Given the description of an element on the screen output the (x, y) to click on. 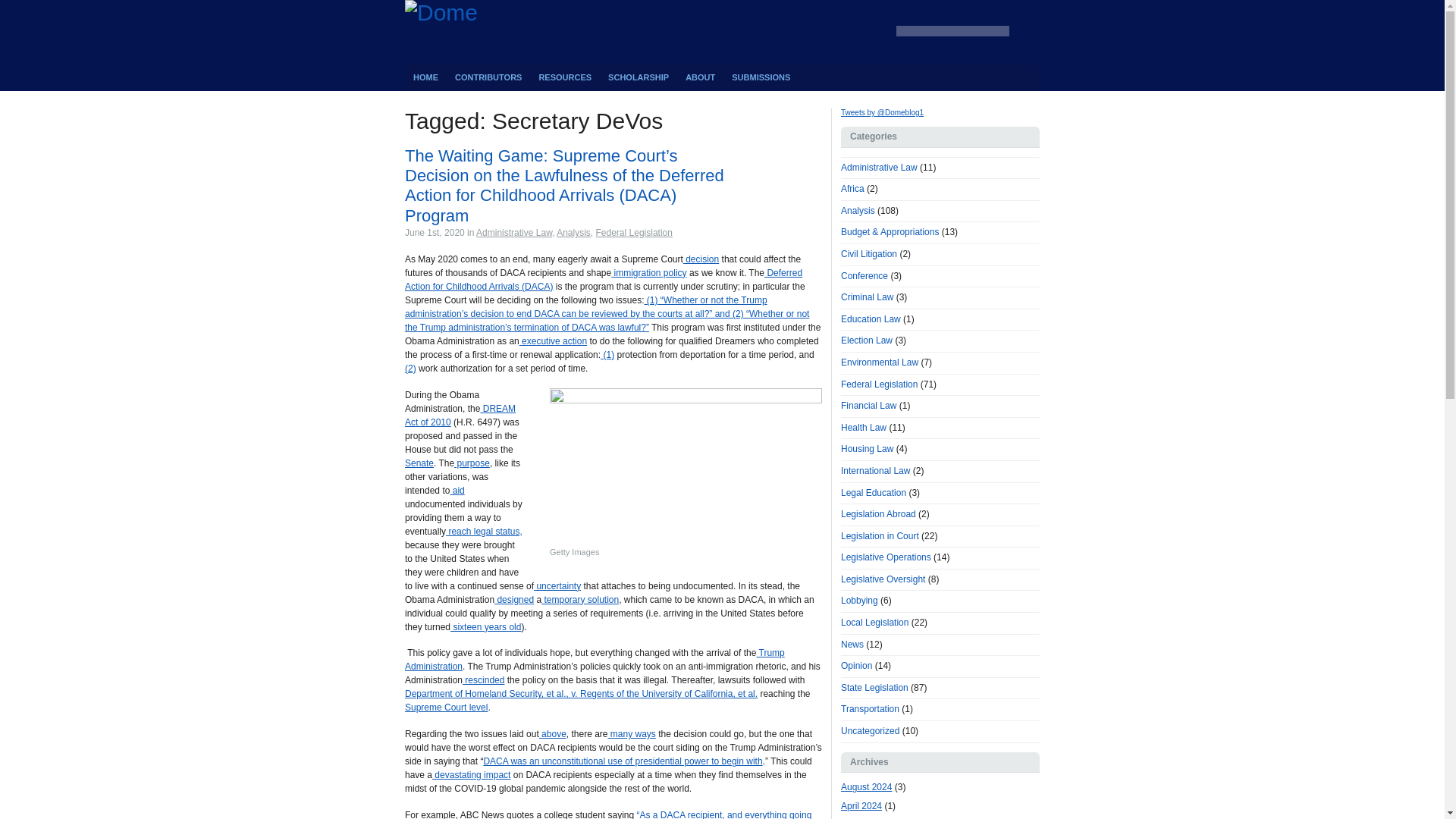
rescinded (483, 679)
DREAM Act of 2010 (459, 415)
SCHOLARSHIP (638, 76)
Supreme Court level (445, 706)
CONTRIBUTORS (487, 76)
devastating impact (471, 774)
many ways (632, 733)
executive action (552, 340)
Analysis (573, 232)
